Given the description of an element on the screen output the (x, y) to click on. 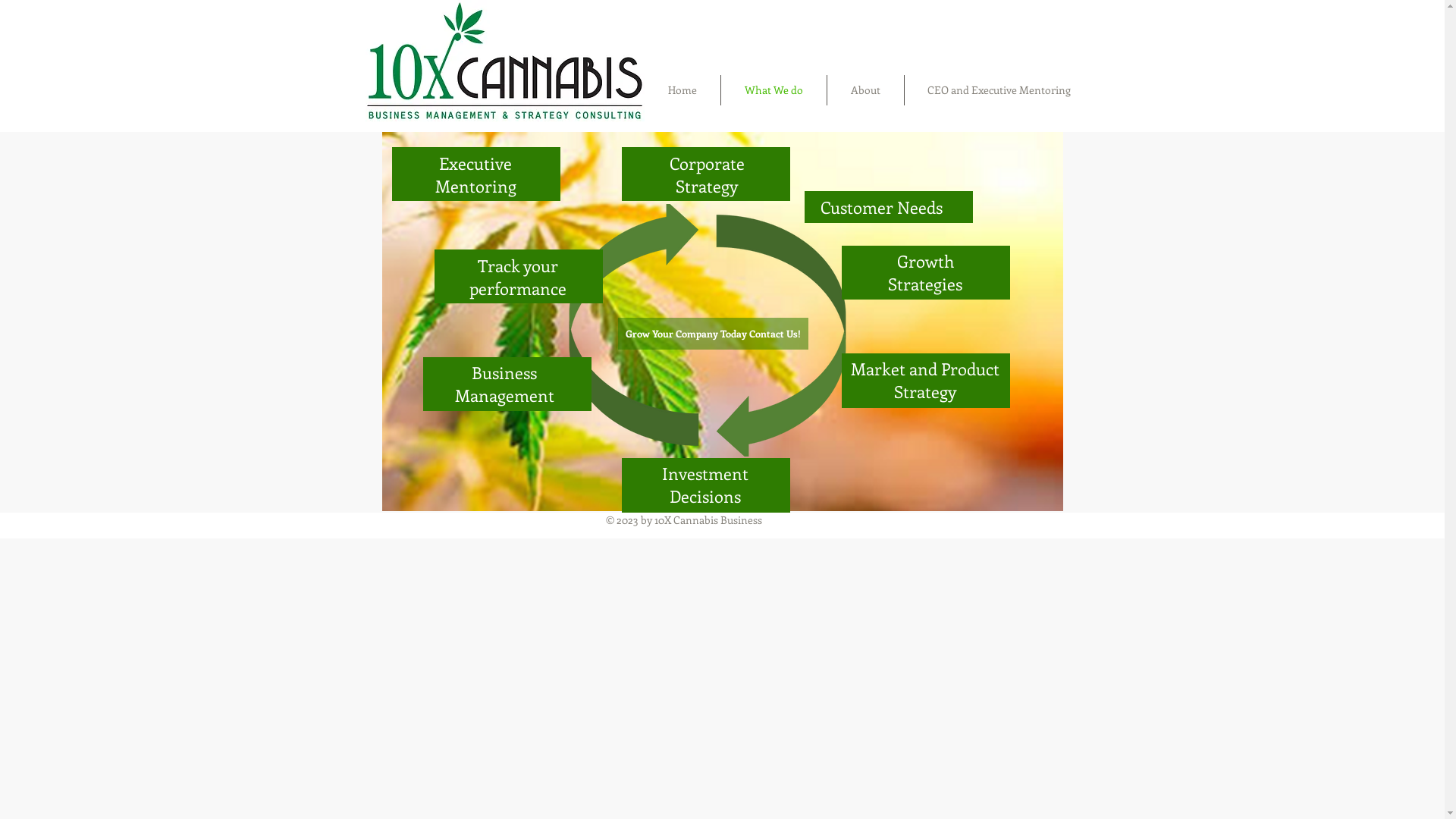
CEO and Executive Mentoring Element type: text (998, 90)
Grow Your Company Today Contact Us! Element type: text (712, 333)
Home Element type: text (682, 90)
What We do Element type: text (772, 90)
About Element type: text (864, 90)
